Given the description of an element on the screen output the (x, y) to click on. 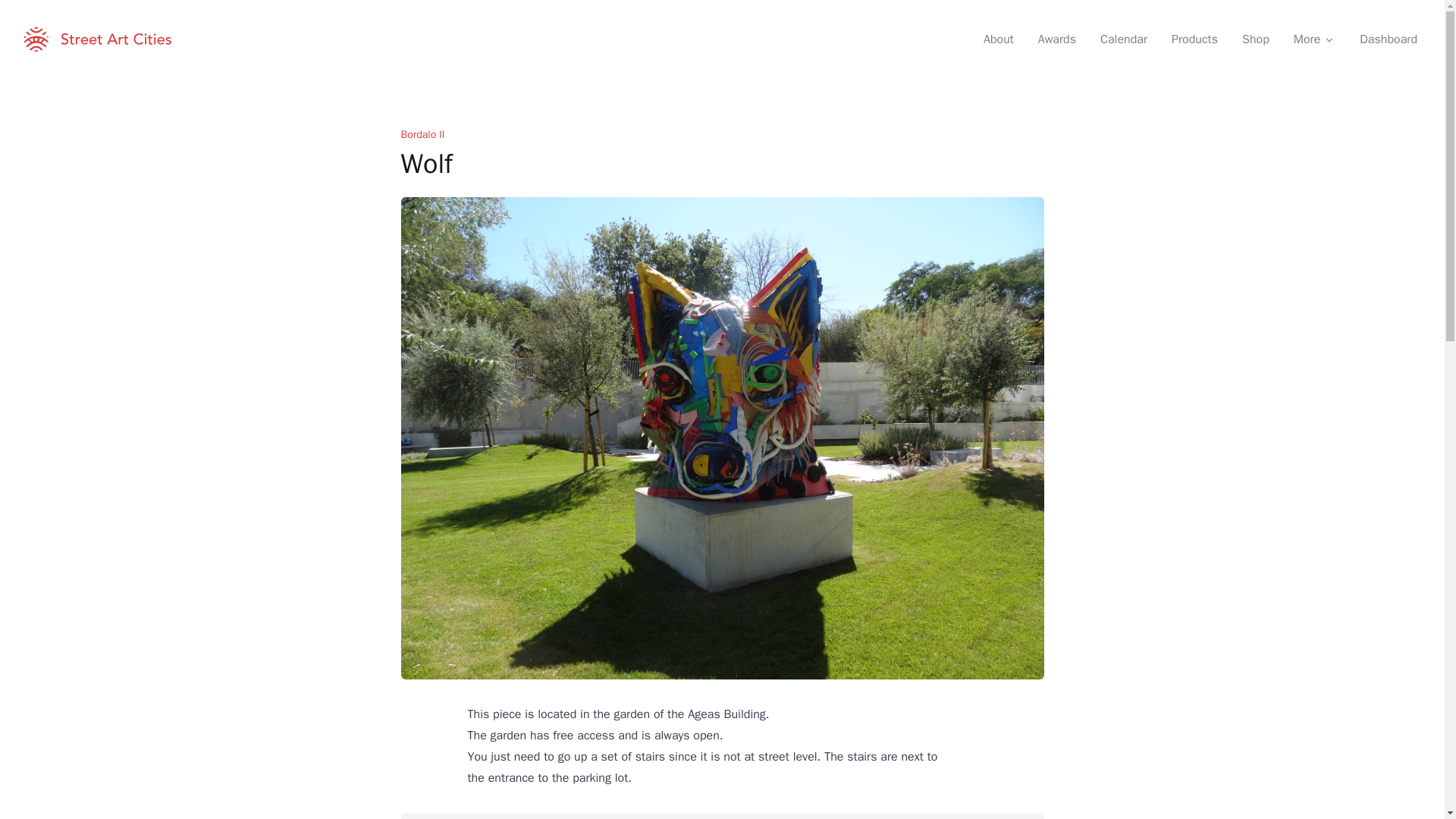
More (1314, 39)
Calendar (1122, 39)
Awards (1056, 39)
Dashboard (1388, 39)
Bordalo ll (422, 133)
Shop (1255, 39)
About (998, 39)
Products (1194, 39)
Street Art Cities (97, 39)
